Given the description of an element on the screen output the (x, y) to click on. 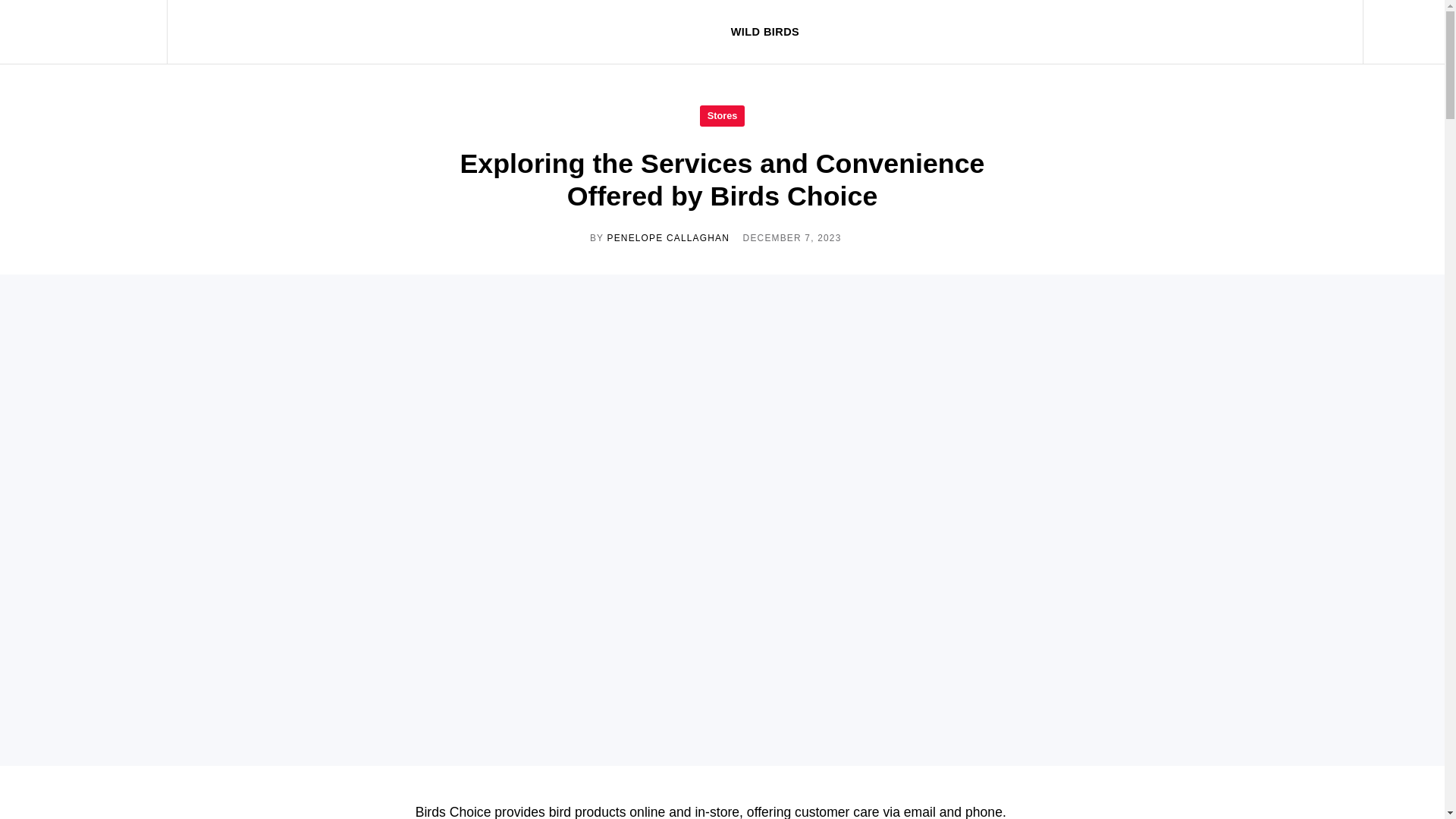
Stores (722, 115)
Wild Birds (94, 32)
WILD BIRDS (764, 31)
PENELOPE CALLAGHAN (668, 237)
